Given the description of an element on the screen output the (x, y) to click on. 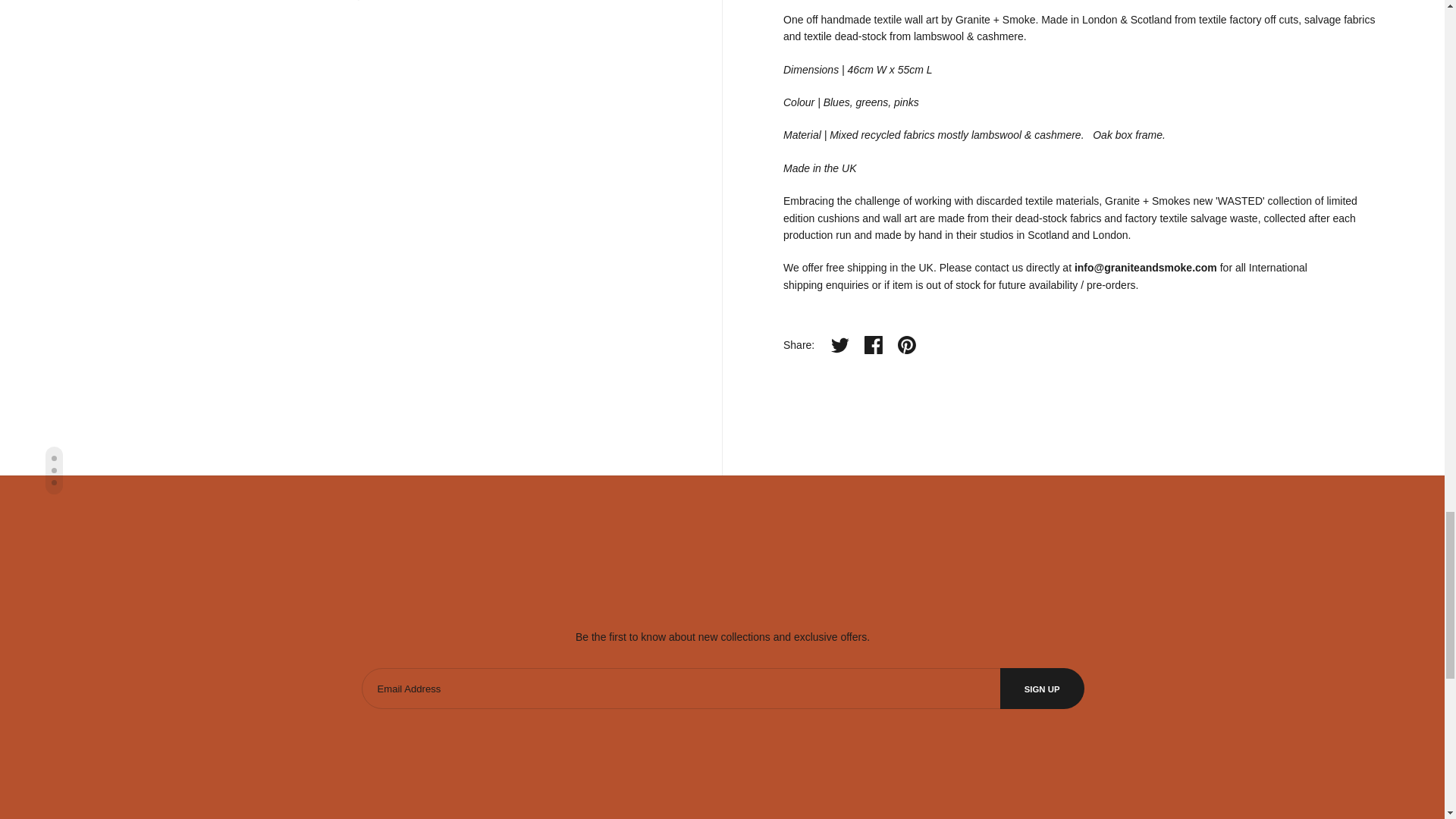
SIGN UP (1042, 688)
SIGN UP (1042, 688)
